Given the description of an element on the screen output the (x, y) to click on. 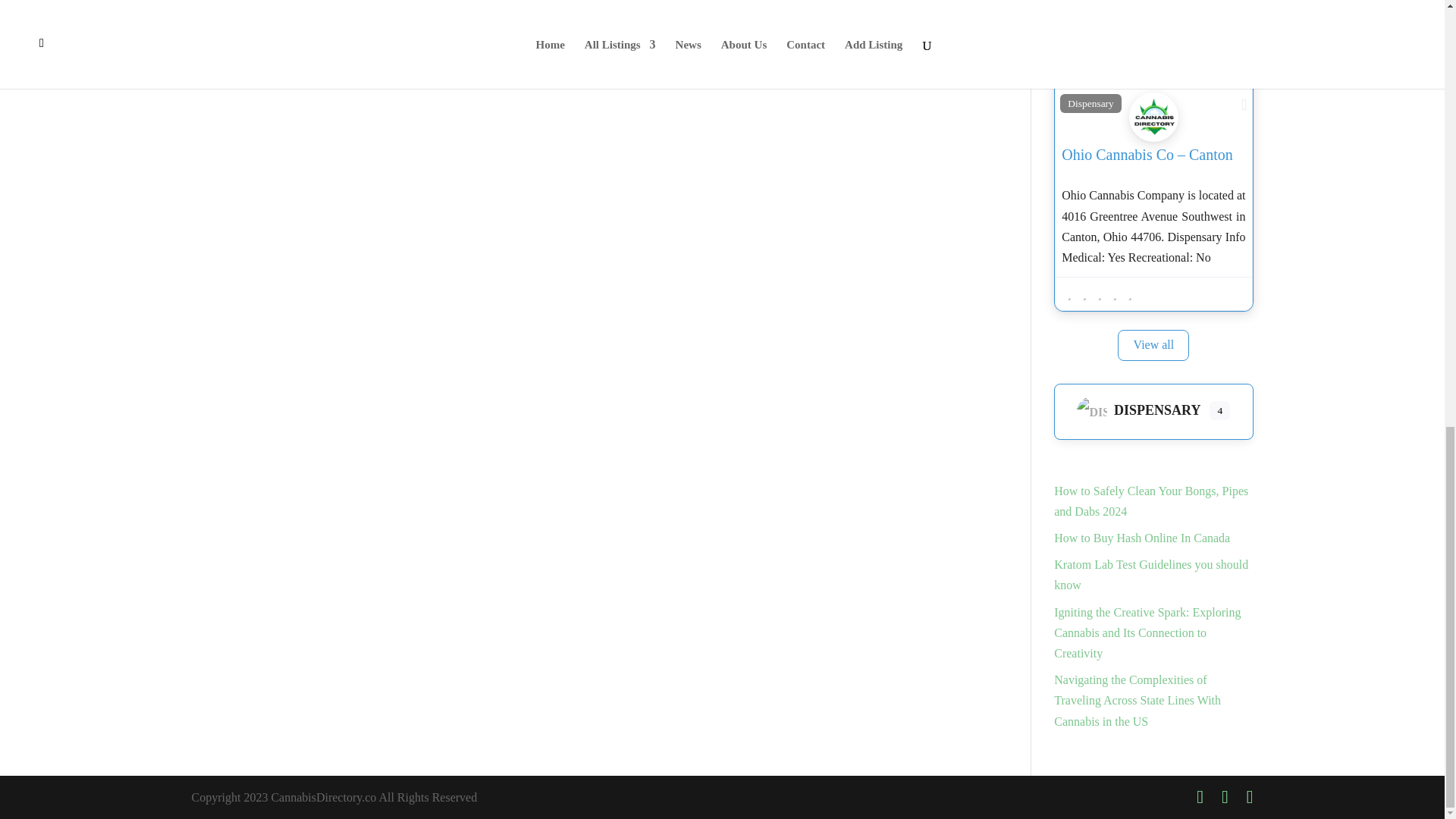
Previous (215, 73)
Next (954, 73)
